Given the description of an element on the screen output the (x, y) to click on. 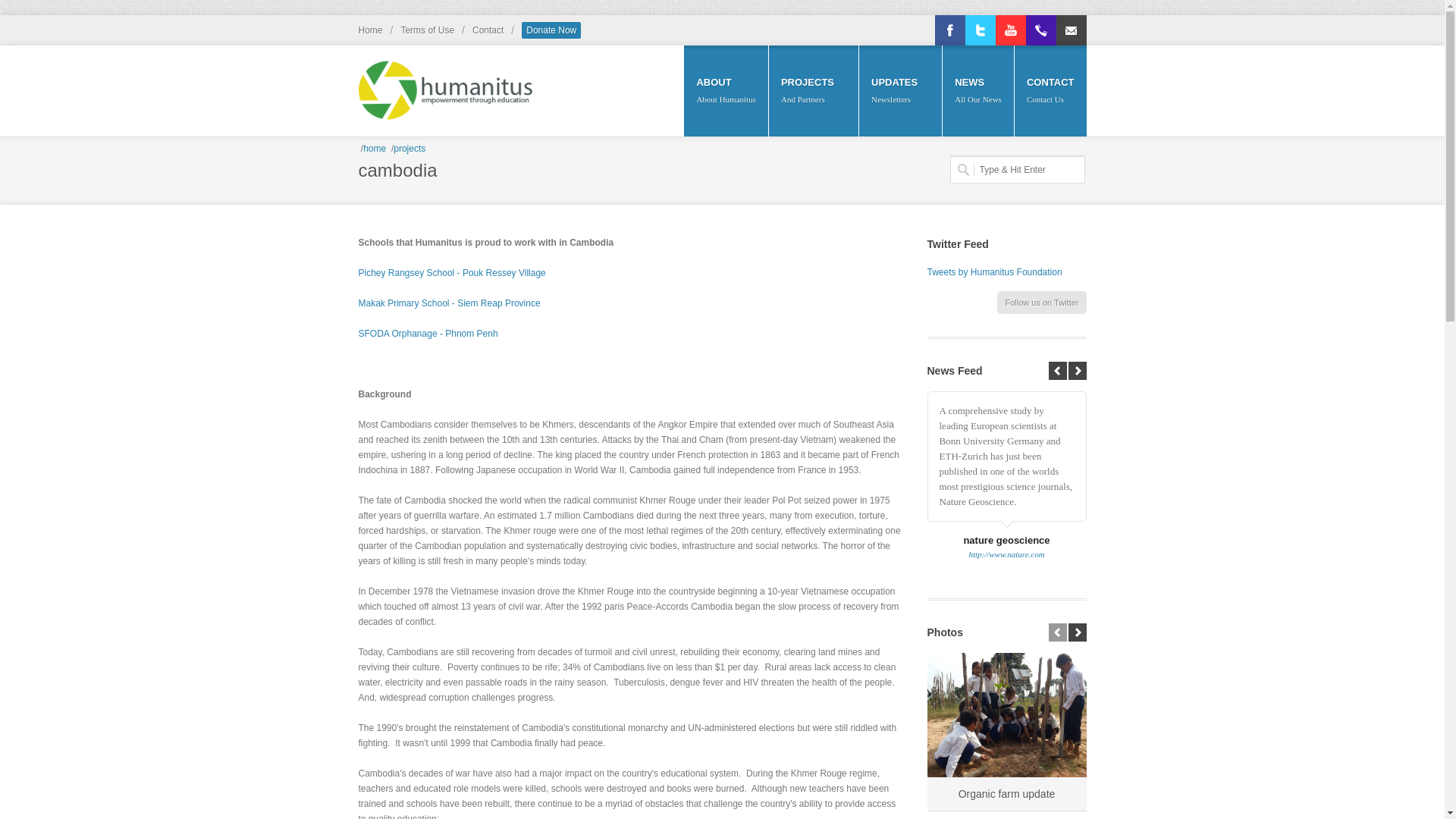
Mkak Primary School (449, 303)
Pichey Rangsey School (451, 272)
Organic farm update (1006, 793)
SFODA Orphanage (427, 333)
Humanitus Logo (445, 82)
IMG 7593 (1006, 714)
